Given the description of an element on the screen output the (x, y) to click on. 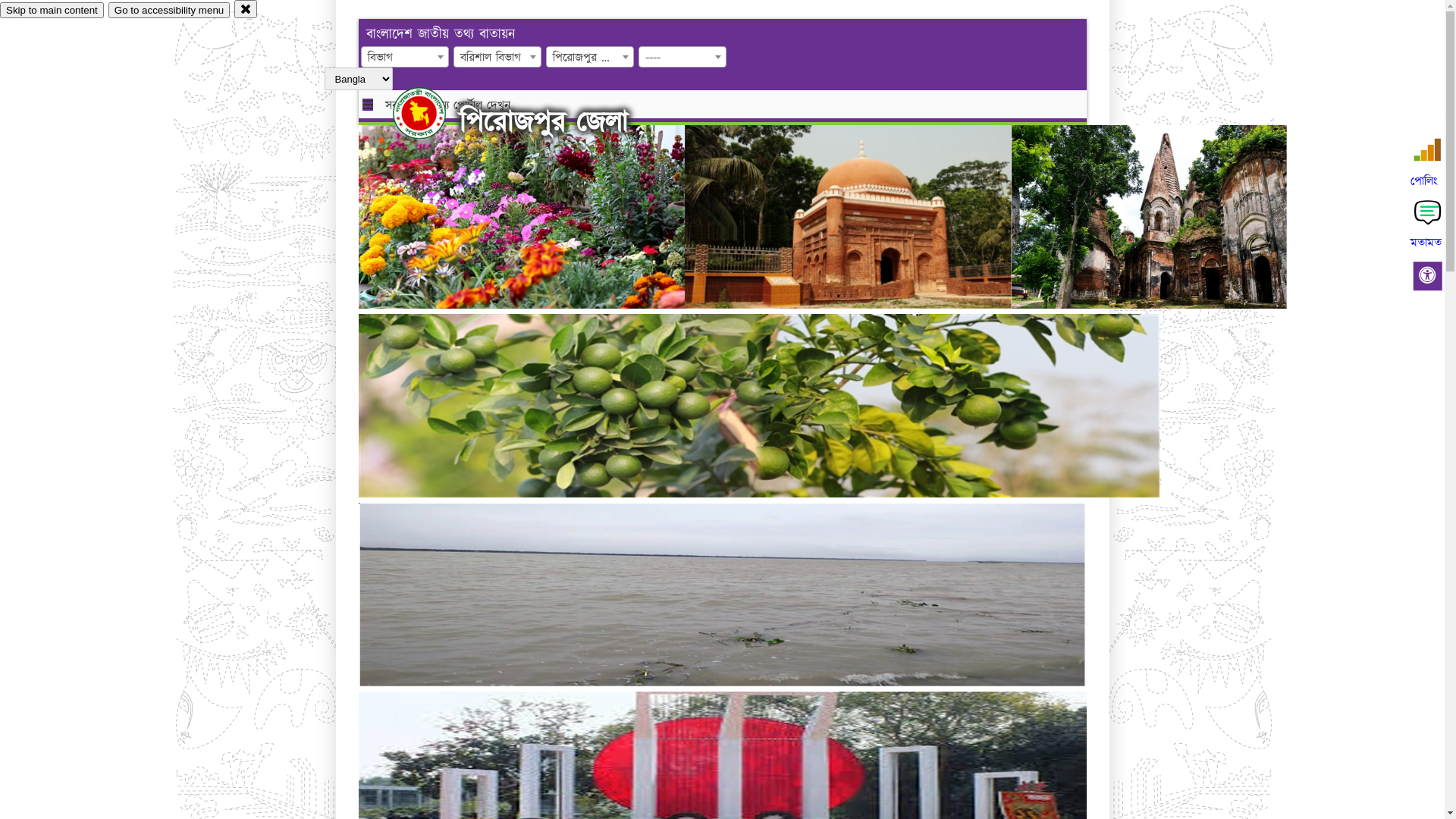
Skip to main content Element type: text (51, 10)
Go to accessibility menu Element type: text (168, 10)

                
             Element type: hover (431, 112)
close Element type: hover (245, 9)
